Given the description of an element on the screen output the (x, y) to click on. 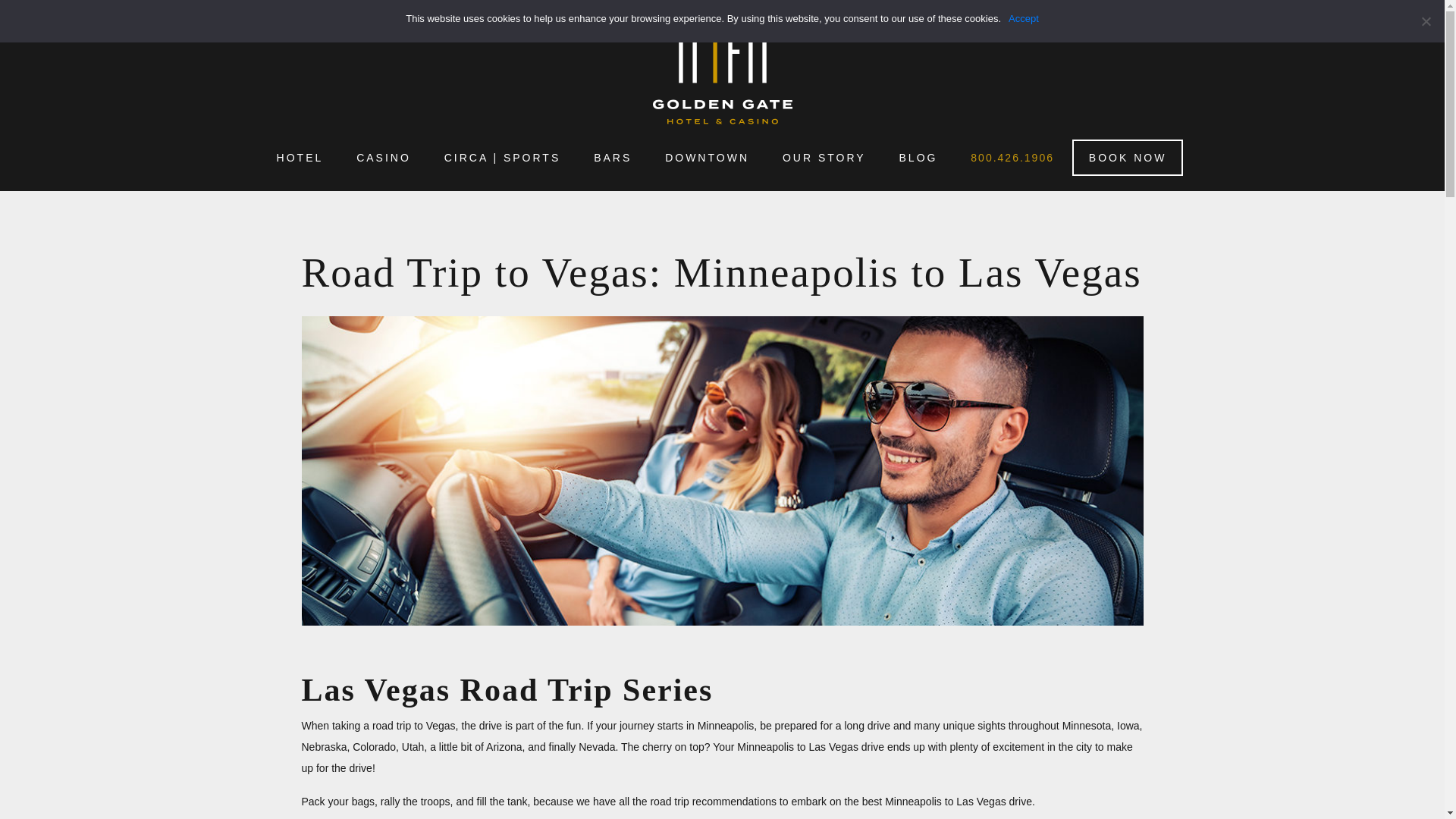
OUR STORY (824, 157)
BLOG (918, 157)
DOWNTOWN (707, 157)
CASINO (383, 157)
HOTEL (299, 157)
BARS (612, 157)
BOOK NOW (1128, 157)
800.426.1906 (1012, 157)
